Given the description of an element on the screen output the (x, y) to click on. 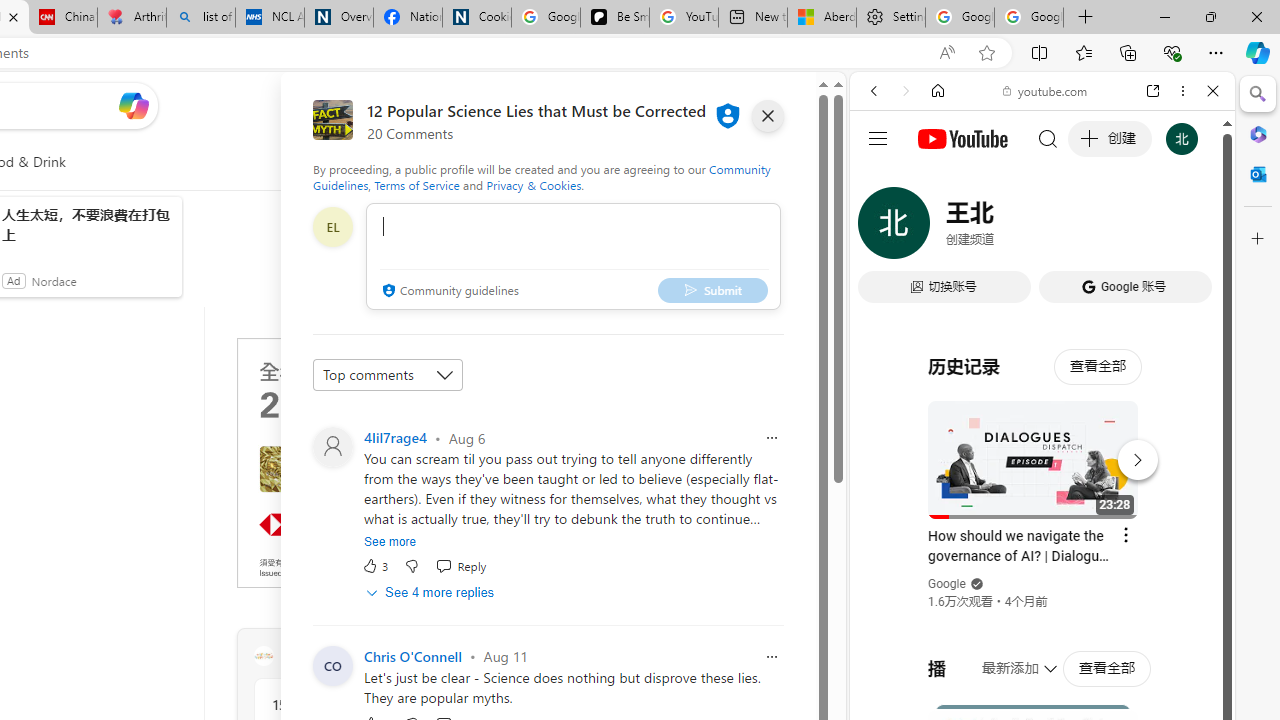
Search Filter, VIDEOS (1006, 228)
Terms of Service (416, 184)
Sort comments by (388, 374)
Arthritis: Ask Health Professionals (132, 17)
